Given the description of an element on the screen output the (x, y) to click on. 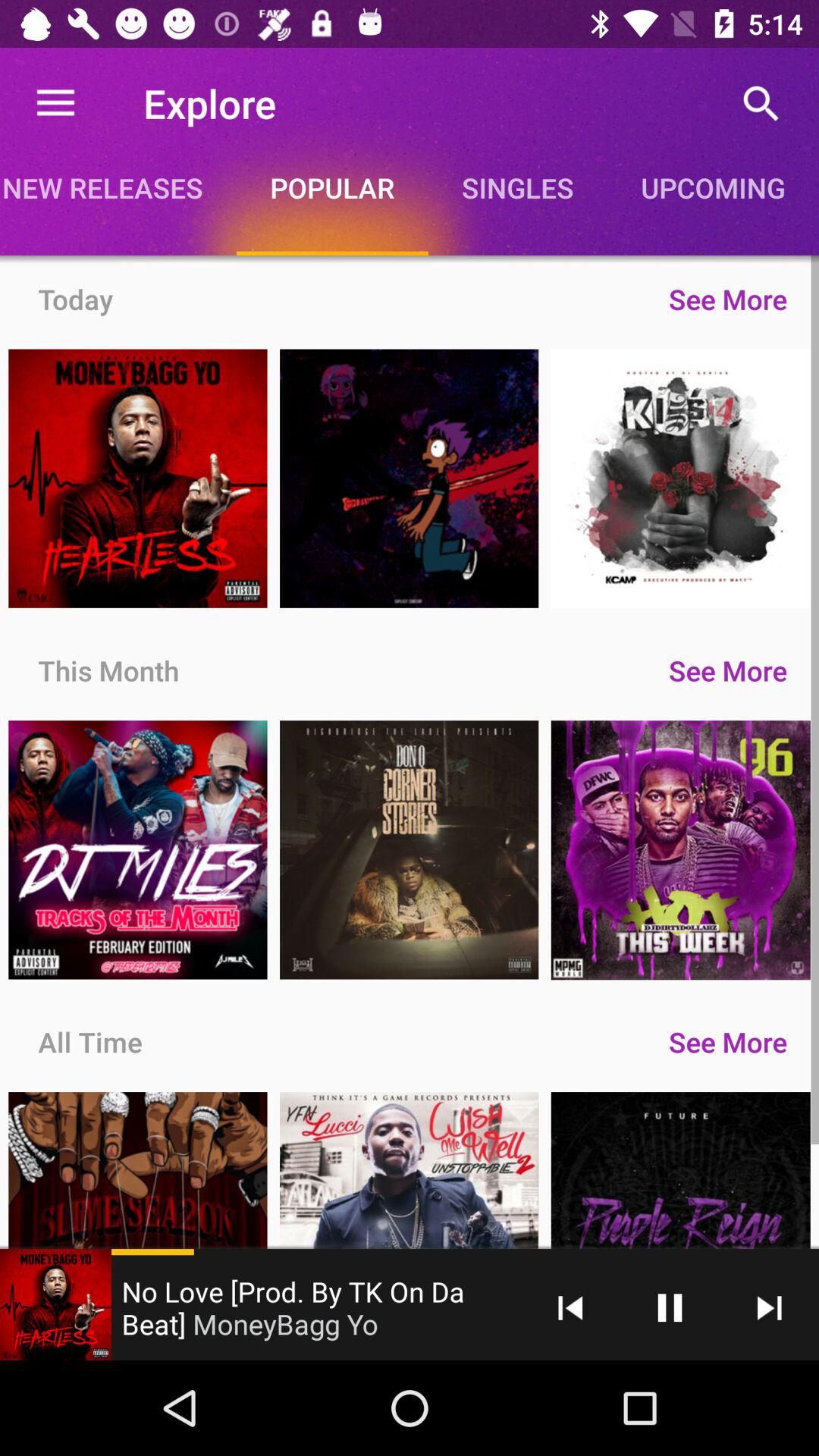
jump to popular app (332, 187)
